Given the description of an element on the screen output the (x, y) to click on. 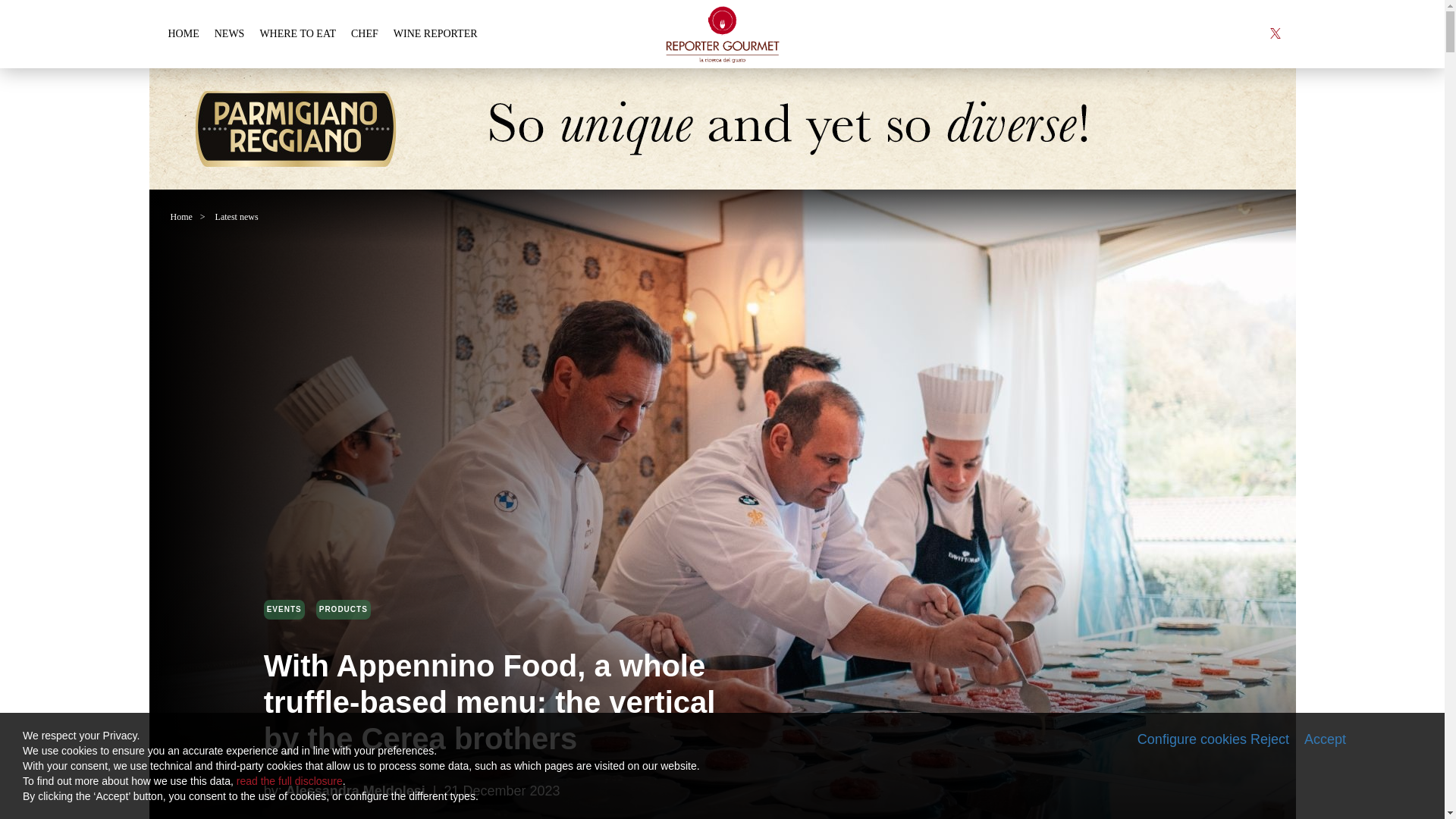
Where to Eat (297, 33)
Latest news (237, 216)
WINE REPORTER (434, 33)
instagram (1231, 33)
Alessandra Meldolesi (357, 790)
PRODUCTS (343, 609)
Reporter Gourmet S.r.l. (721, 33)
facebook (1212, 33)
Home (181, 216)
twitter (1269, 33)
WHERE TO EAT (297, 33)
EVENTS (283, 609)
youtube (1249, 33)
Wine Reporter (434, 33)
